Given the description of an element on the screen output the (x, y) to click on. 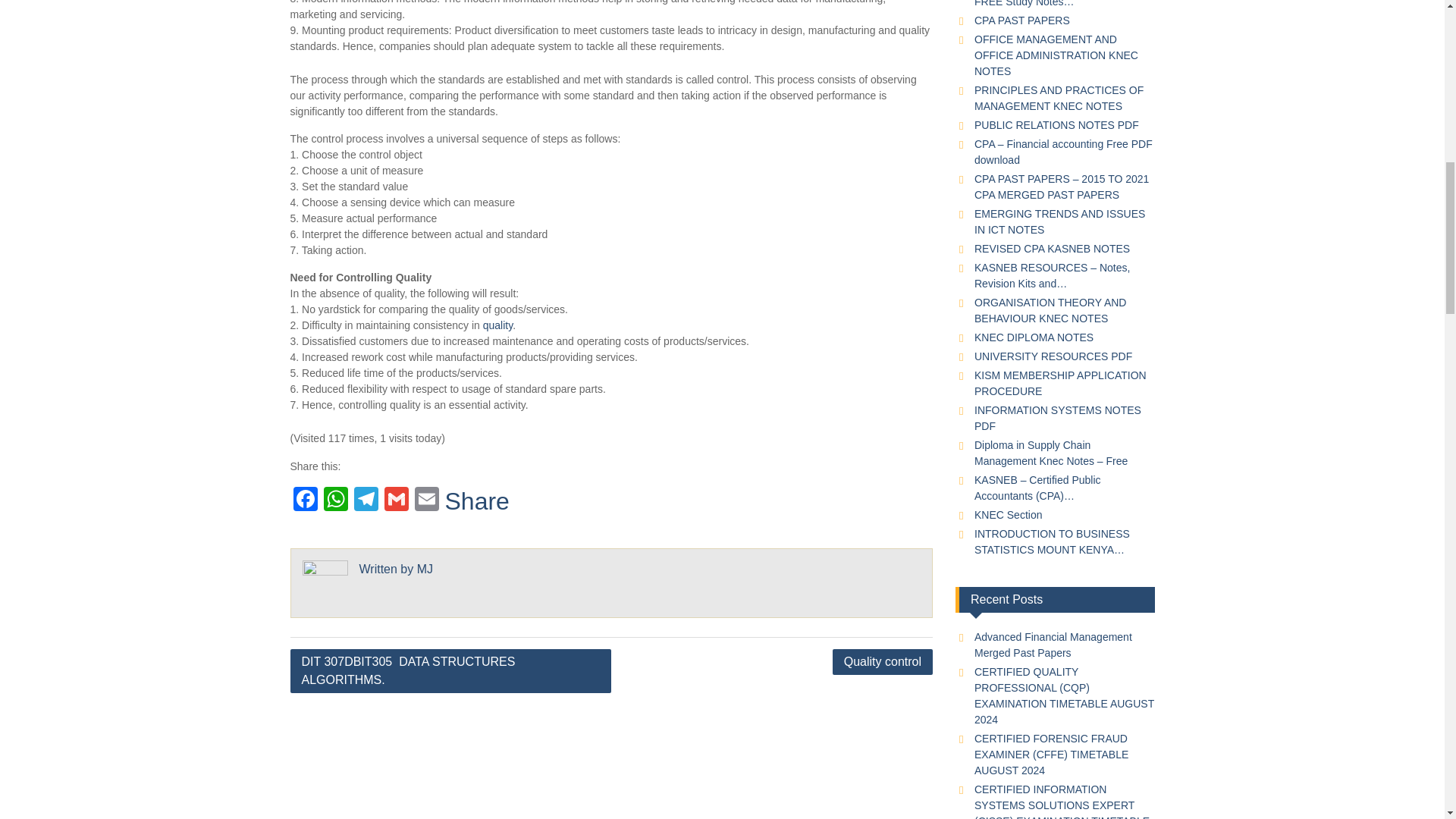
Posts by MJ (424, 568)
Telegram (365, 500)
Gmail (395, 500)
Email (425, 500)
Quality control (882, 661)
MJ (424, 568)
Share (476, 500)
Email (425, 500)
Gmail (395, 500)
quality (497, 325)
